Given the description of an element on the screen output the (x, y) to click on. 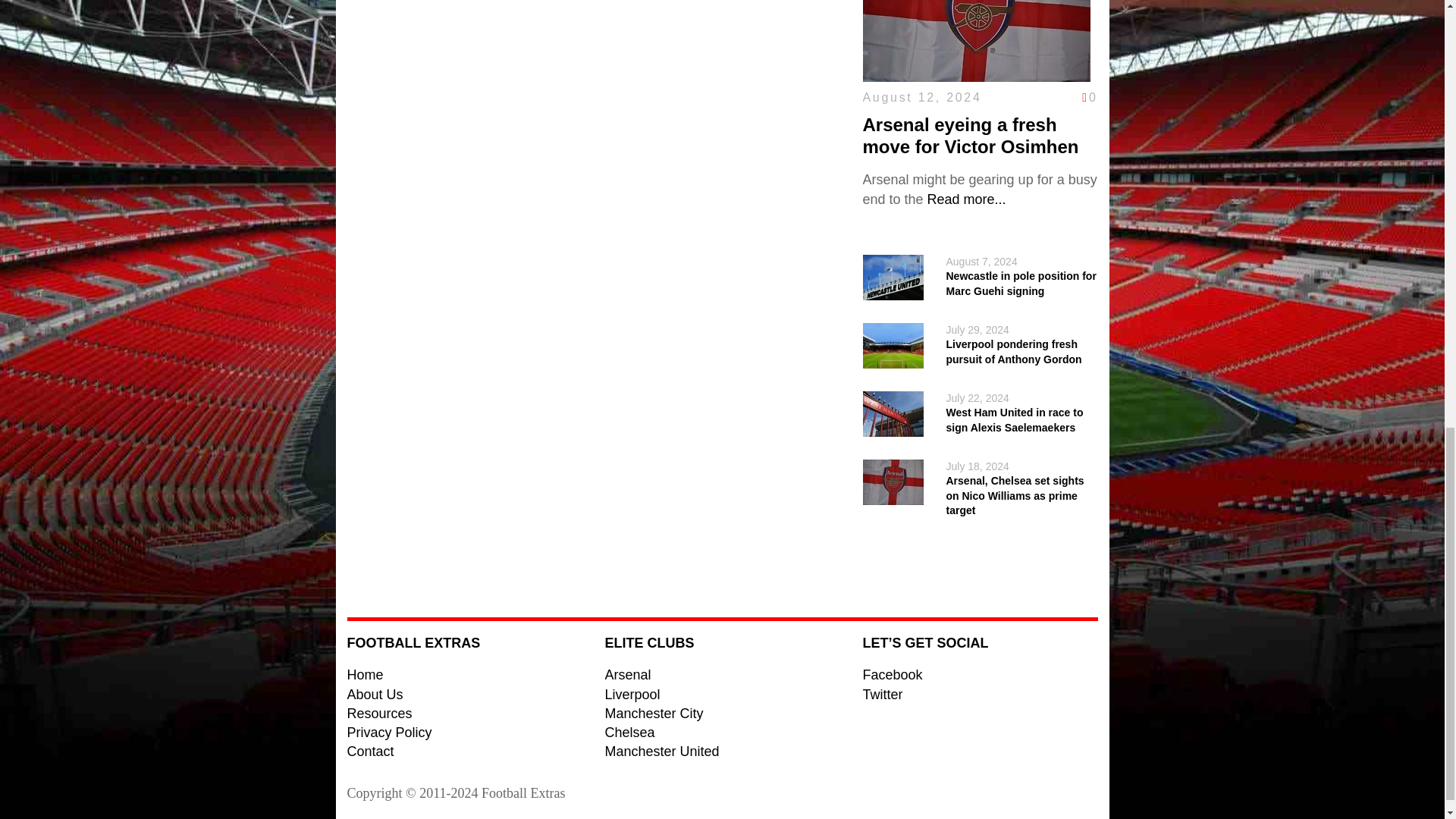
Arsenal eyeing a fresh move for Victor Osimhen (970, 135)
Arsenal eyeing a fresh move for Victor Osimhen (976, 71)
Arsenal, Chelsea set sights on Nico Williams as prime target (1015, 495)
Arsenal eyeing a fresh move for Victor Osimhen (970, 135)
Read more... (966, 199)
West Ham United in race to sign Alexis Saelemaekers (1014, 420)
Arsenal eyeing a fresh move for Victor Osimhen (966, 199)
Liverpool pondering fresh pursuit of Anthony Gordon (1013, 351)
Newcastle in pole position for Marc Guehi signing (1021, 283)
